Given the description of an element on the screen output the (x, y) to click on. 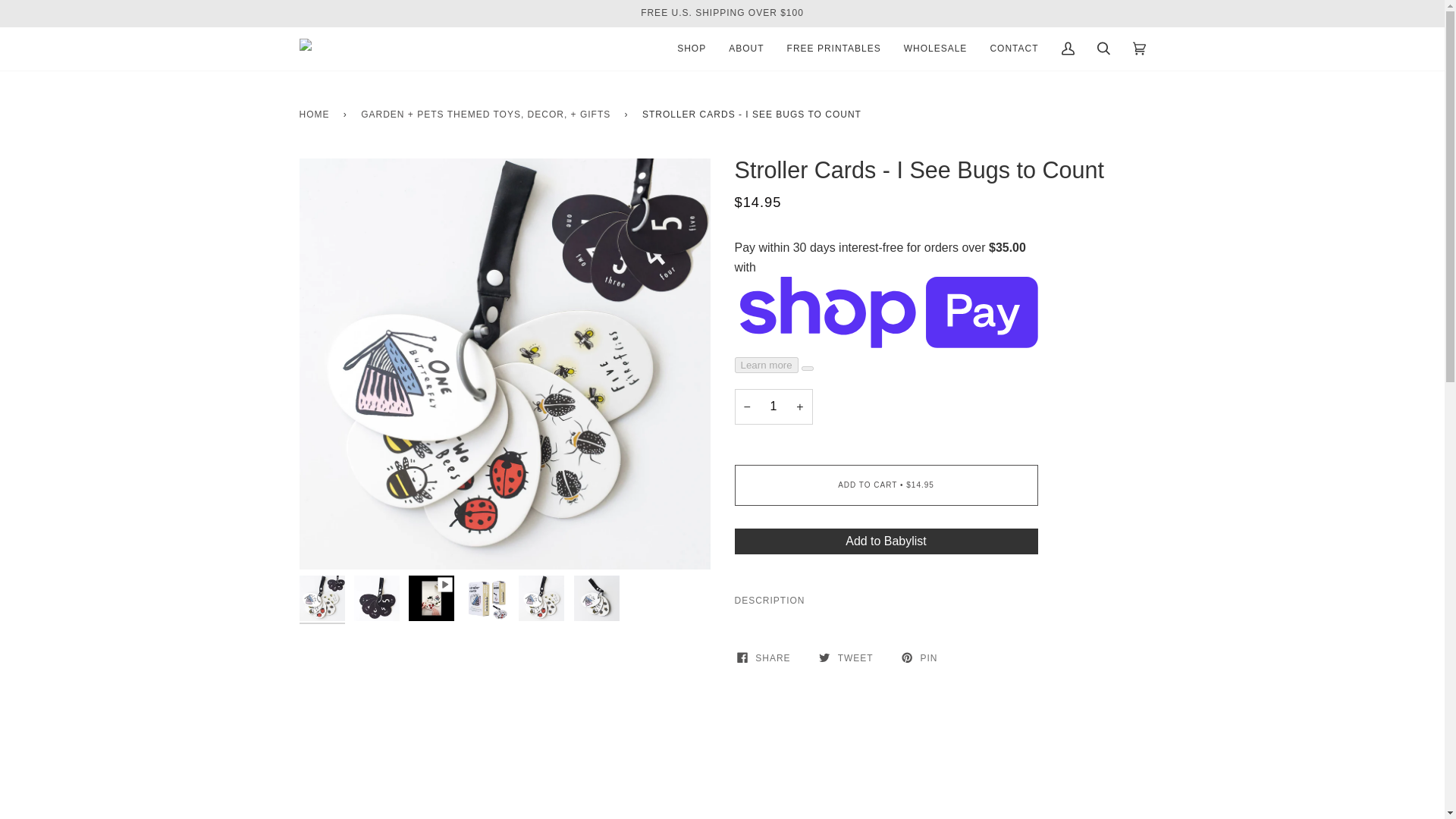
1 (772, 407)
SHOP (691, 48)
Back to the frontpage (316, 114)
